Given the description of an element on the screen output the (x, y) to click on. 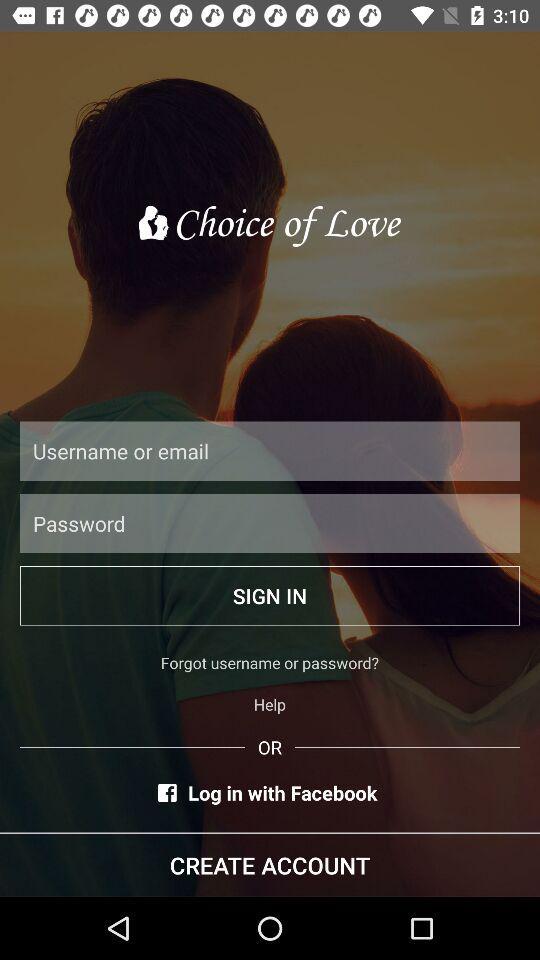
turn off log in with (269, 792)
